Given the description of an element on the screen output the (x, y) to click on. 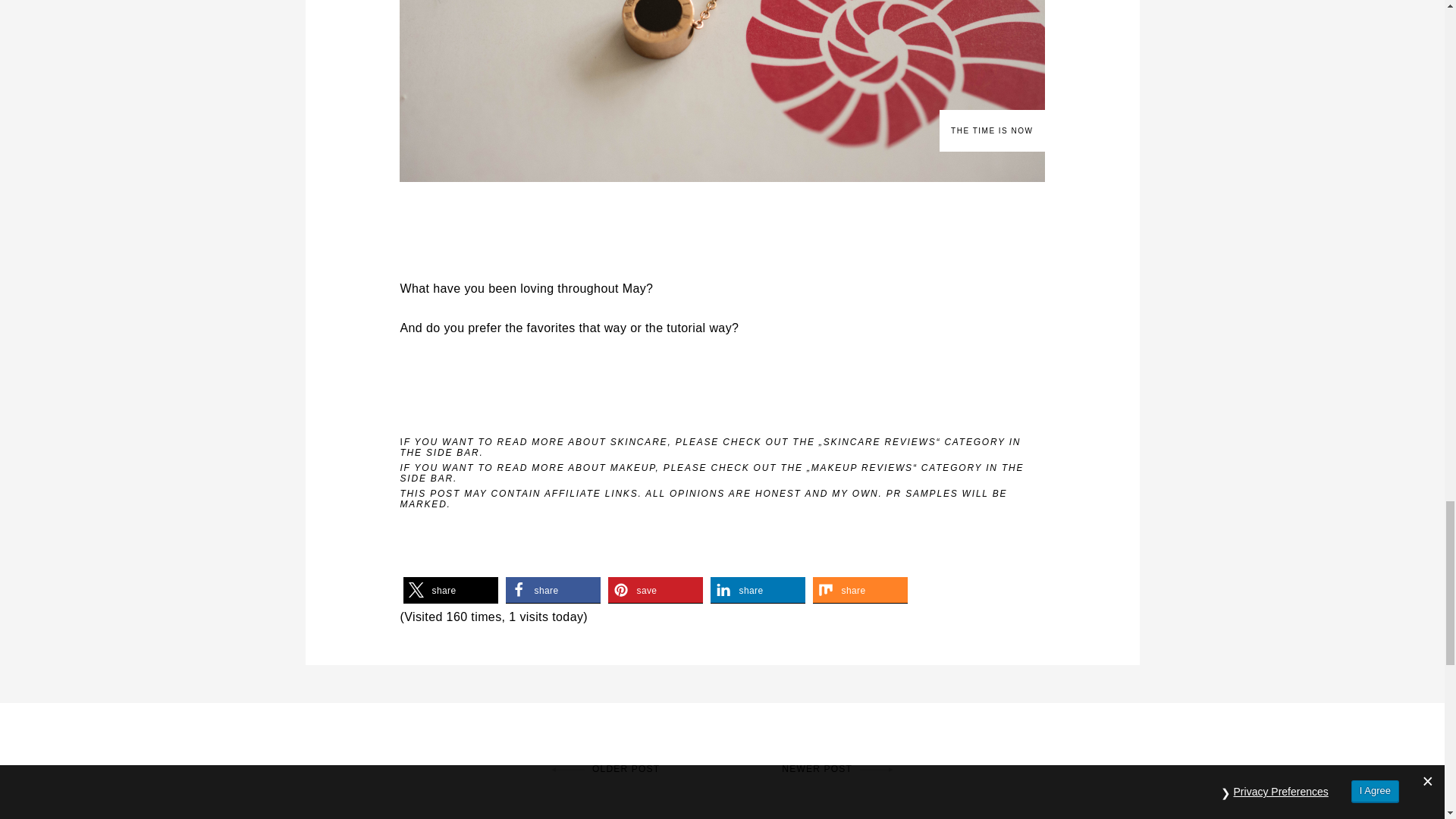
Pin it on Pinterest (655, 590)
Share on X (450, 590)
Share on LinkedIn (757, 590)
Share on Facebook (552, 590)
Share on Mix (859, 590)
